Given the description of an element on the screen output the (x, y) to click on. 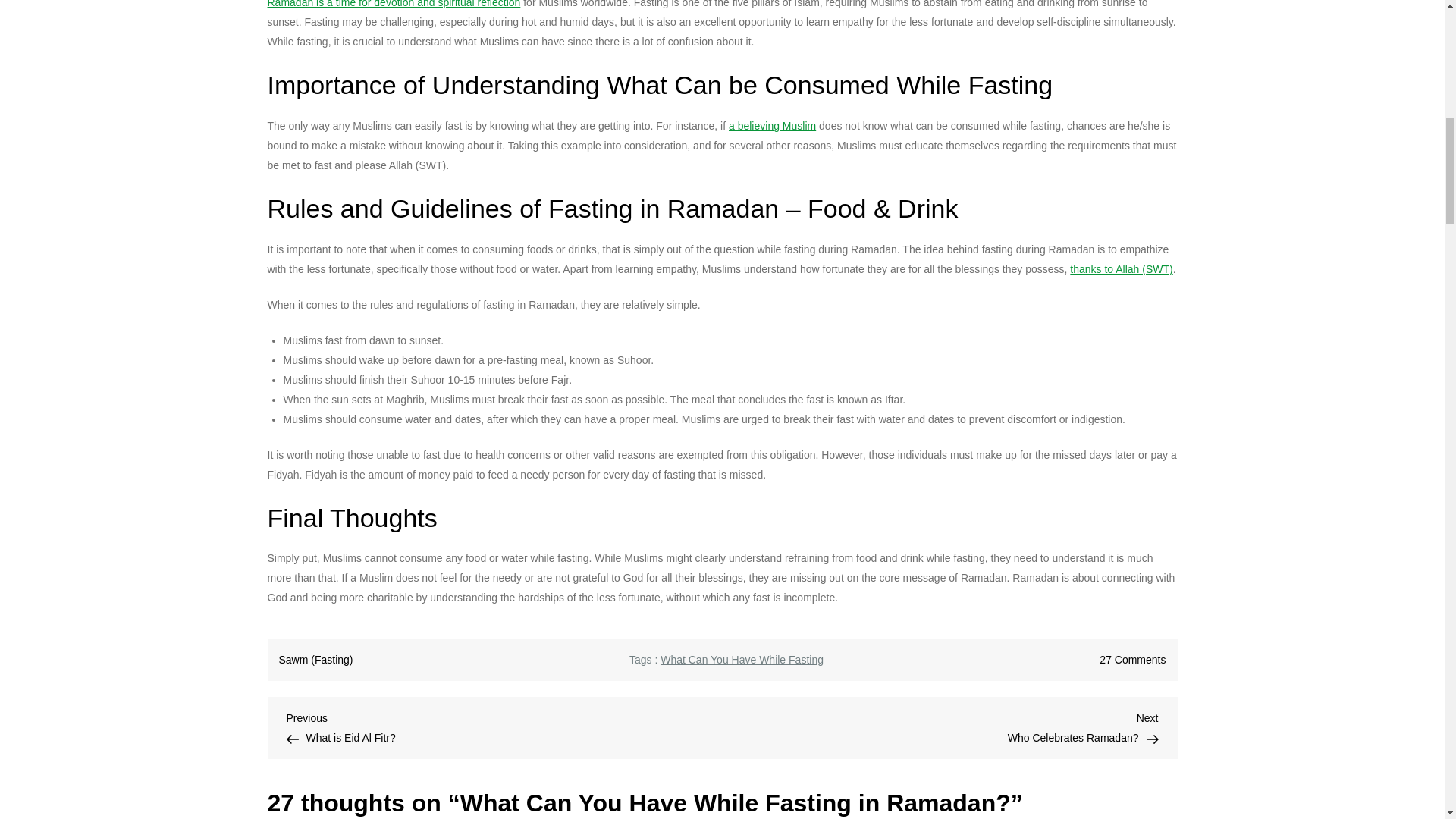
What Can You Have While Fasting (1132, 659)
a believing Muslim (939, 725)
Ramadan is a time for devotion and spiritual reflection (504, 725)
